Given the description of an element on the screen output the (x, y) to click on. 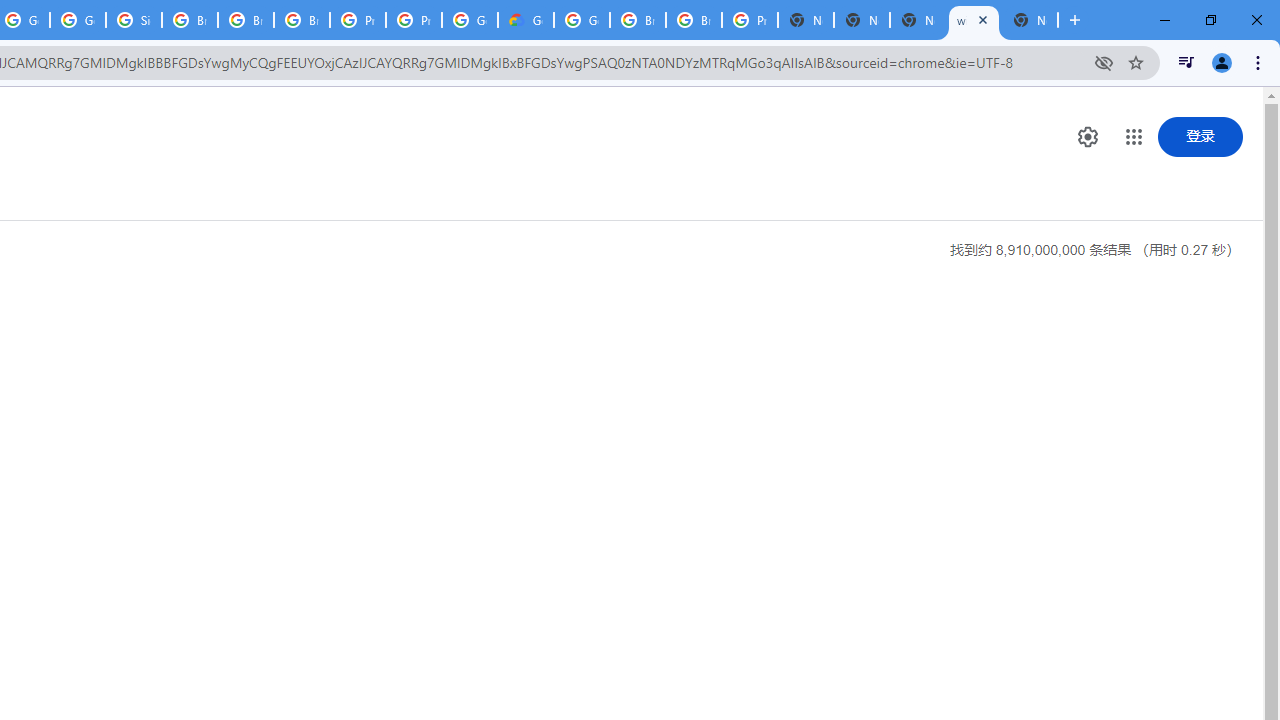
Browse Chrome as a guest - Computer - Google Chrome Help (189, 20)
Google Cloud Platform (469, 20)
Browse Chrome as a guest - Computer - Google Chrome Help (301, 20)
Google Cloud Platform (582, 20)
New Tab (1030, 20)
